Given the description of an element on the screen output the (x, y) to click on. 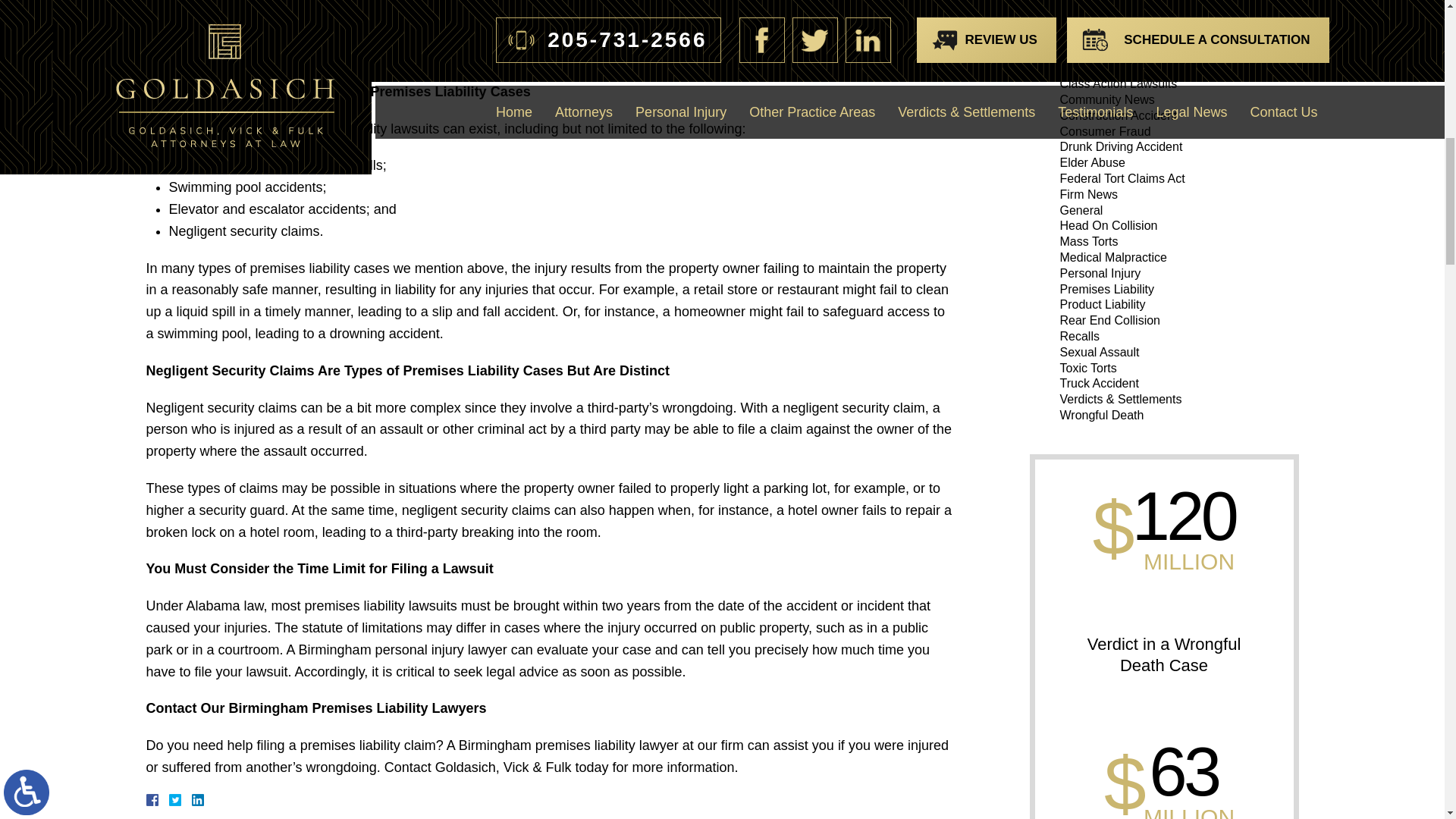
LinkedIn (191, 799)
Facebook (169, 799)
Twitter (180, 799)
